Given the description of an element on the screen output the (x, y) to click on. 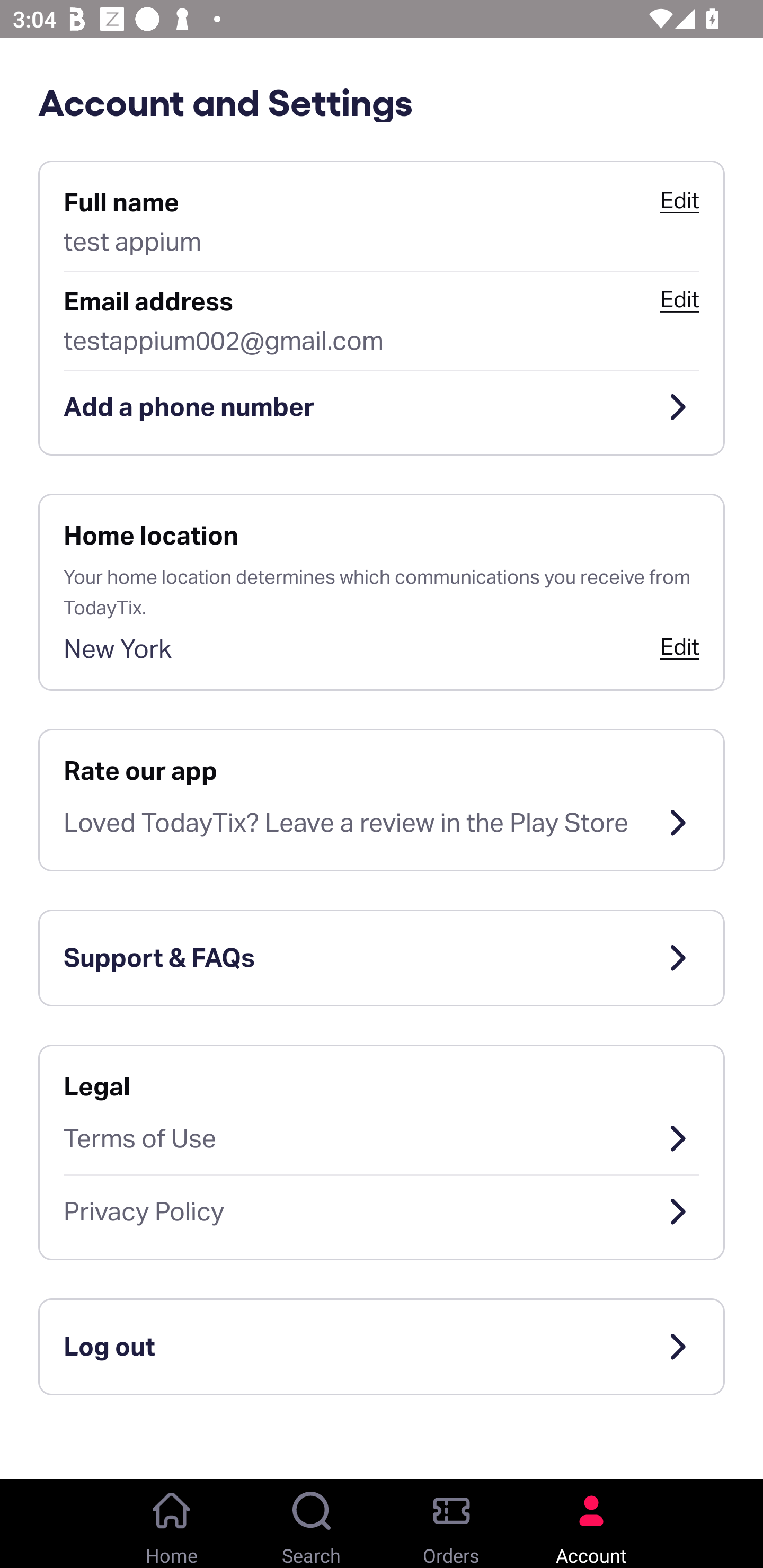
Edit (679, 200)
Edit (679, 299)
Add a phone number (381, 406)
Edit (679, 646)
Loved TodayTix? Leave a review in the Play Store (381, 822)
Support & FAQs (381, 957)
Terms of Use (381, 1137)
Privacy Policy (381, 1211)
Log out (381, 1346)
Home (171, 1523)
Search (311, 1523)
Orders (451, 1523)
